Given the description of an element on the screen output the (x, y) to click on. 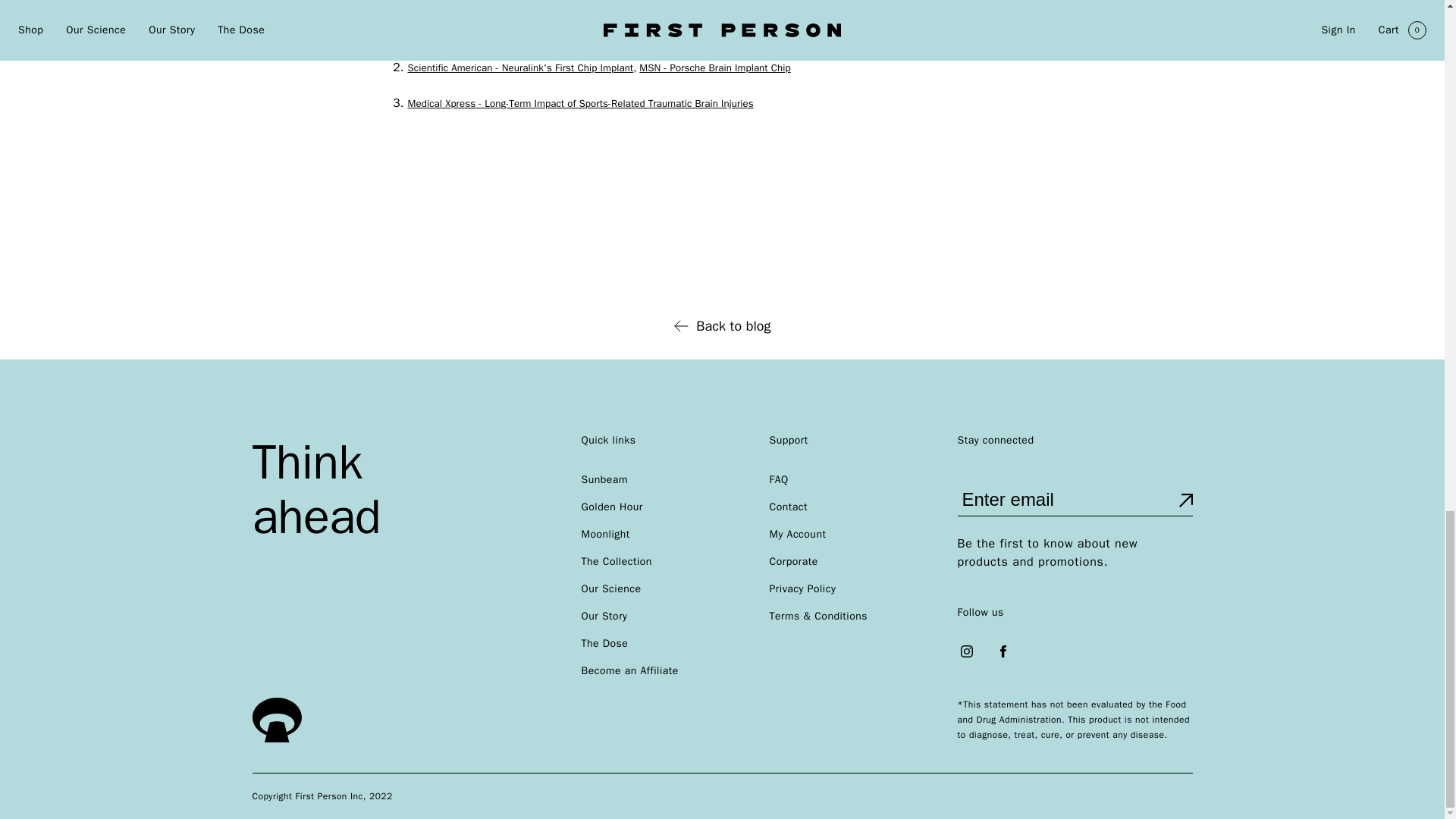
MSN - Porsche Brain Implant Chip (714, 67)
FAQ (777, 479)
Moonlight (604, 533)
The Dose (603, 643)
Our Science (610, 588)
Scientific American - Neuralink's First Chip Implant (520, 67)
Our Story (603, 615)
The Collection (615, 561)
Sunbeam (603, 479)
Become an Affiliate (629, 670)
BBC - Music Improves Brain Function (489, 31)
Contact (787, 506)
Golden Hour (611, 506)
